Given the description of an element on the screen output the (x, y) to click on. 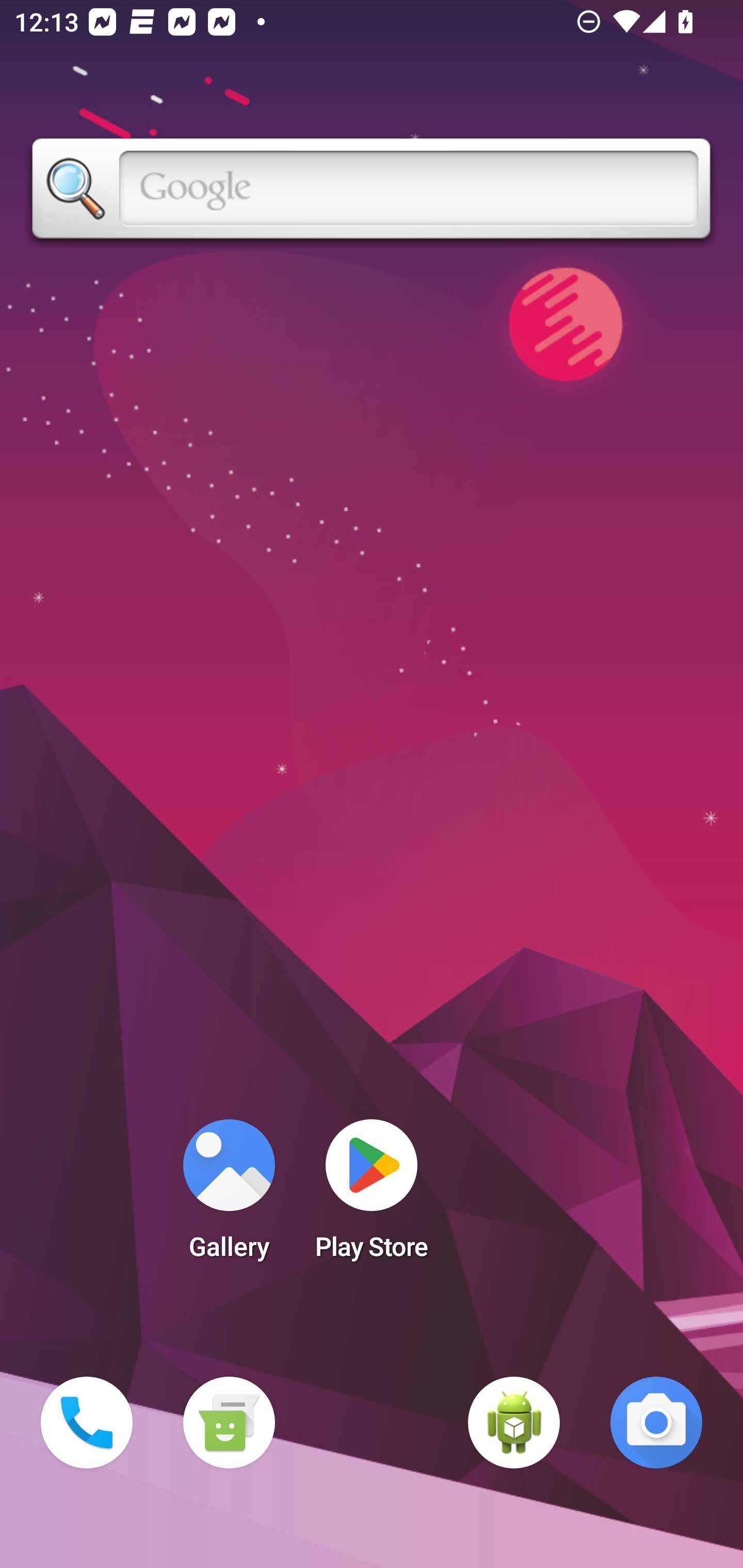
Gallery (228, 1195)
Play Store (371, 1195)
Phone (86, 1422)
Messaging (228, 1422)
WebView Browser Tester (513, 1422)
Camera (656, 1422)
